Given the description of an element on the screen output the (x, y) to click on. 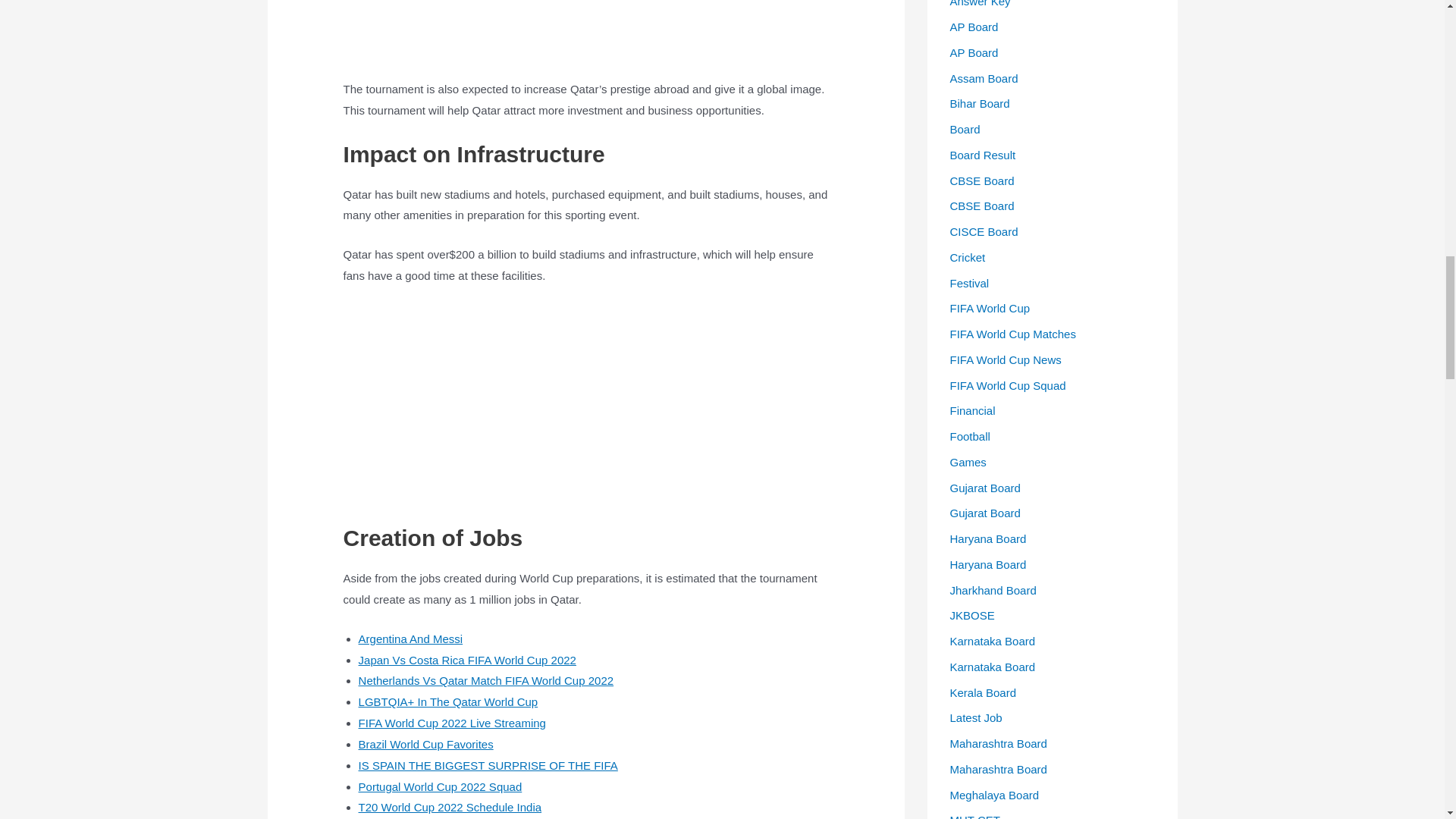
Brazil World Cup Favorites (425, 744)
Japan Vs Costa Rica FIFA World Cup 2022 (467, 659)
IS SPAIN THE BIGGEST SURPRISE OF THE FIFA (487, 765)
Netherlands Vs Qatar Match FIFA World Cup 2022 (486, 680)
FIFA World Cup 2022 Live Streaming (452, 722)
Portugal World Cup 2022 Squad (440, 786)
Argentina And Messi (410, 638)
T20 World Cup 2022 Schedule India (449, 807)
